Given the description of an element on the screen output the (x, y) to click on. 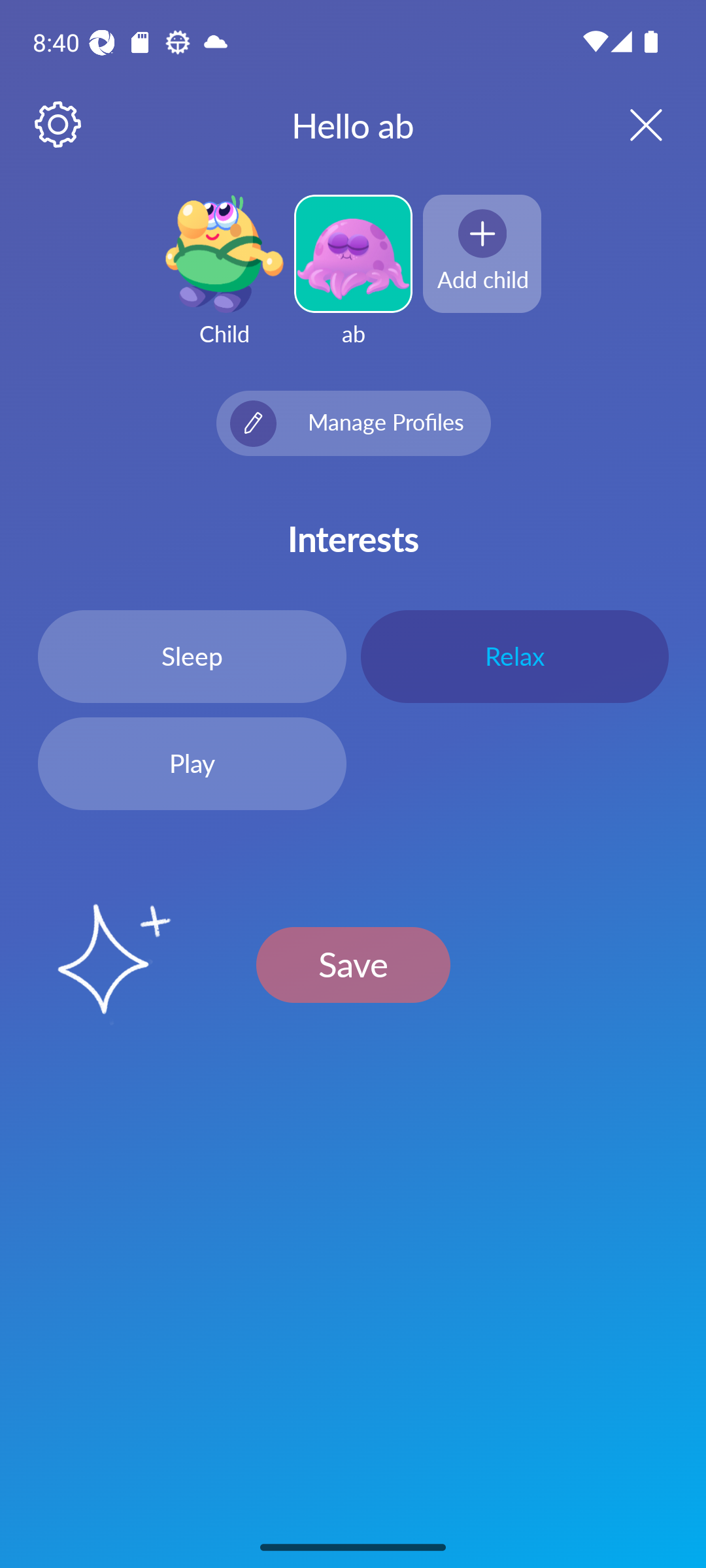
Close (629, 124)
Settings (58, 125)
Child (224, 282)
ab (353, 282)
Add child (481, 253)
icon Manage Profiles (353, 423)
Sleep (192, 655)
Relax (514, 655)
Play (192, 764)
Save (353, 964)
